Given the description of an element on the screen output the (x, y) to click on. 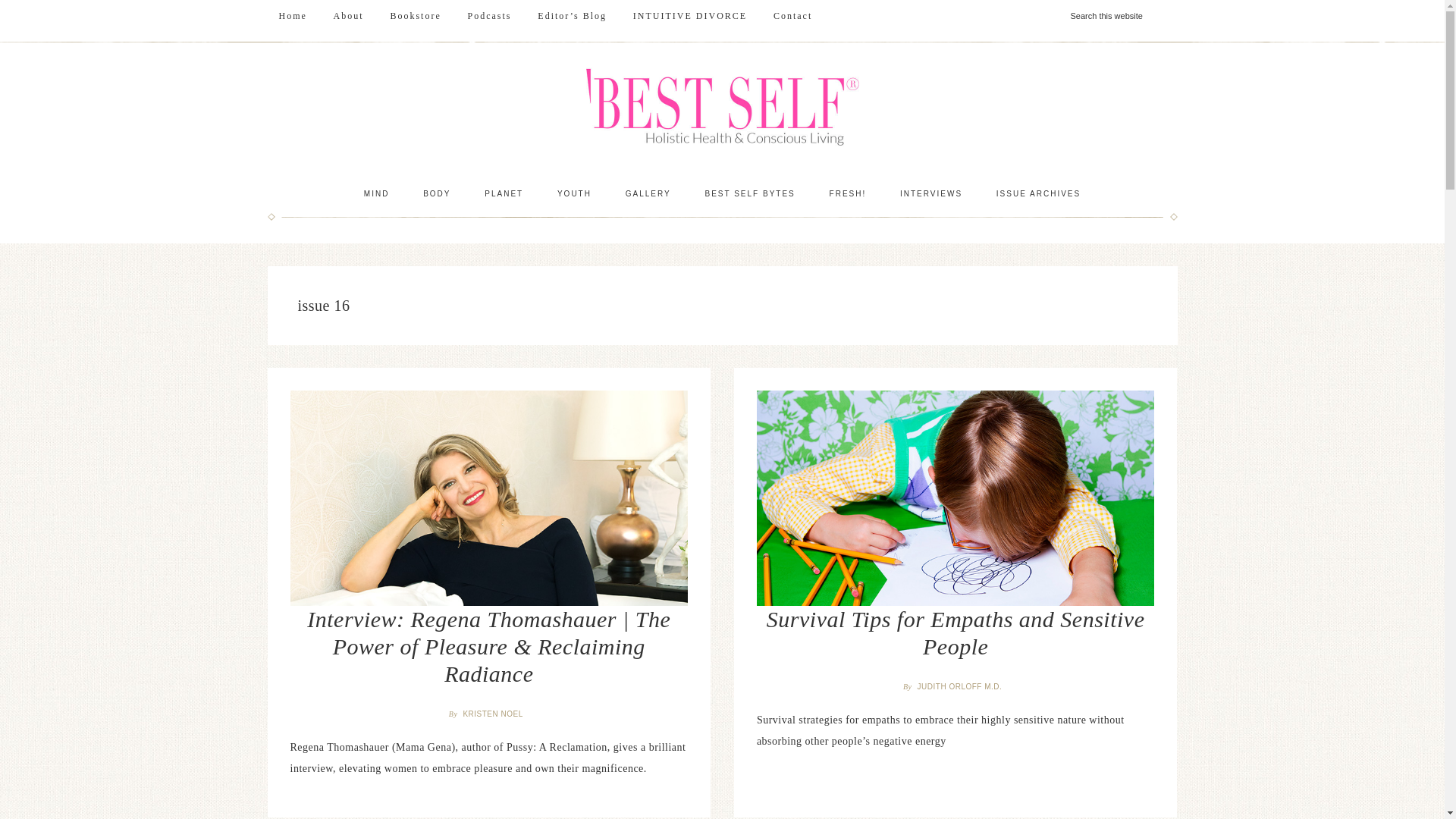
About (348, 15)
YOUTH (574, 193)
Contact (792, 15)
Home (291, 15)
Podcasts (489, 15)
Bookstore (414, 15)
PLANET (503, 193)
BODY (436, 193)
INTUITIVE DIVORCE (689, 15)
BEST SELF (722, 108)
